Given the description of an element on the screen output the (x, y) to click on. 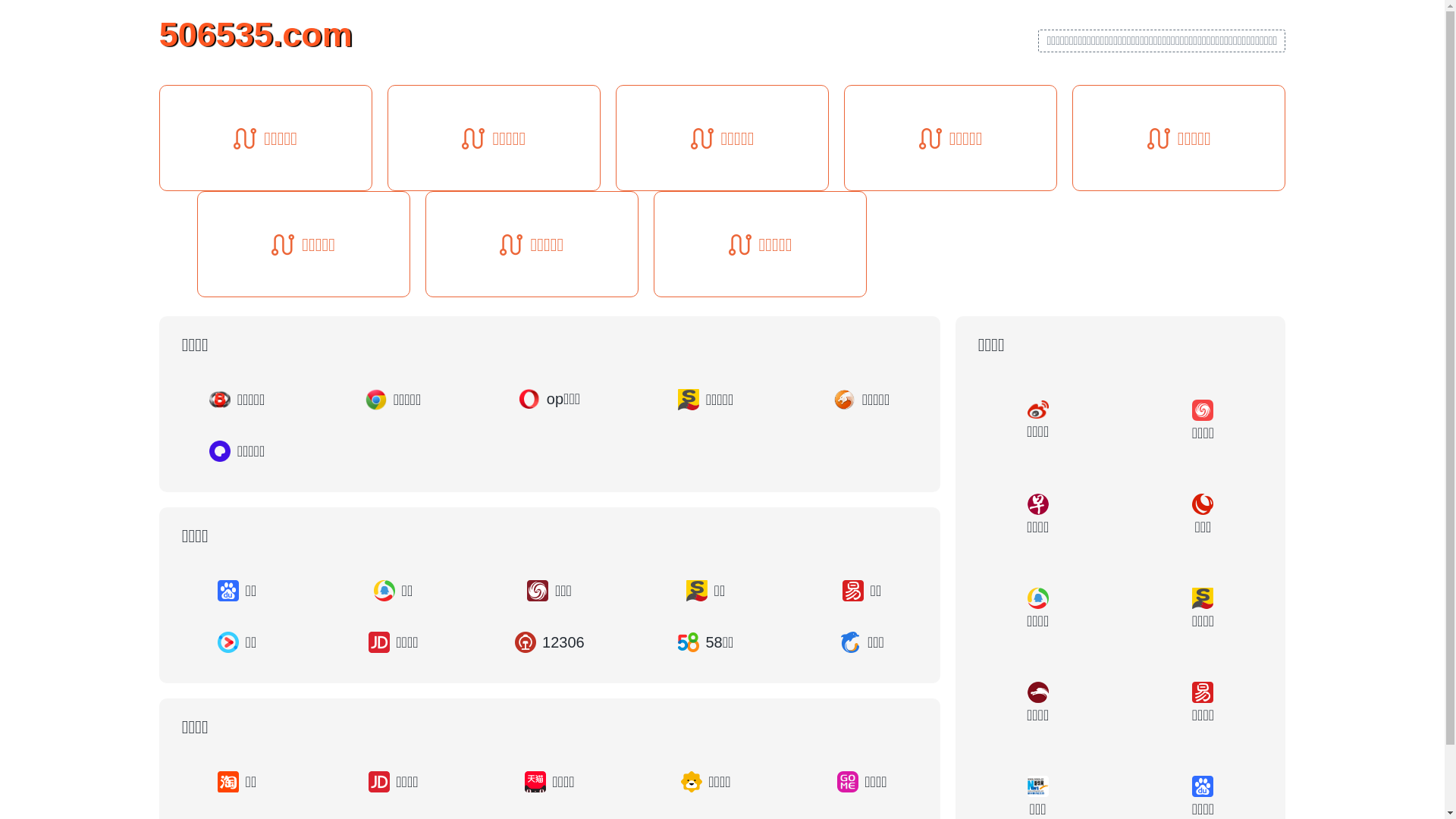
12306 Element type: text (549, 642)
506535.com Element type: text (255, 32)
